Given the description of an element on the screen output the (x, y) to click on. 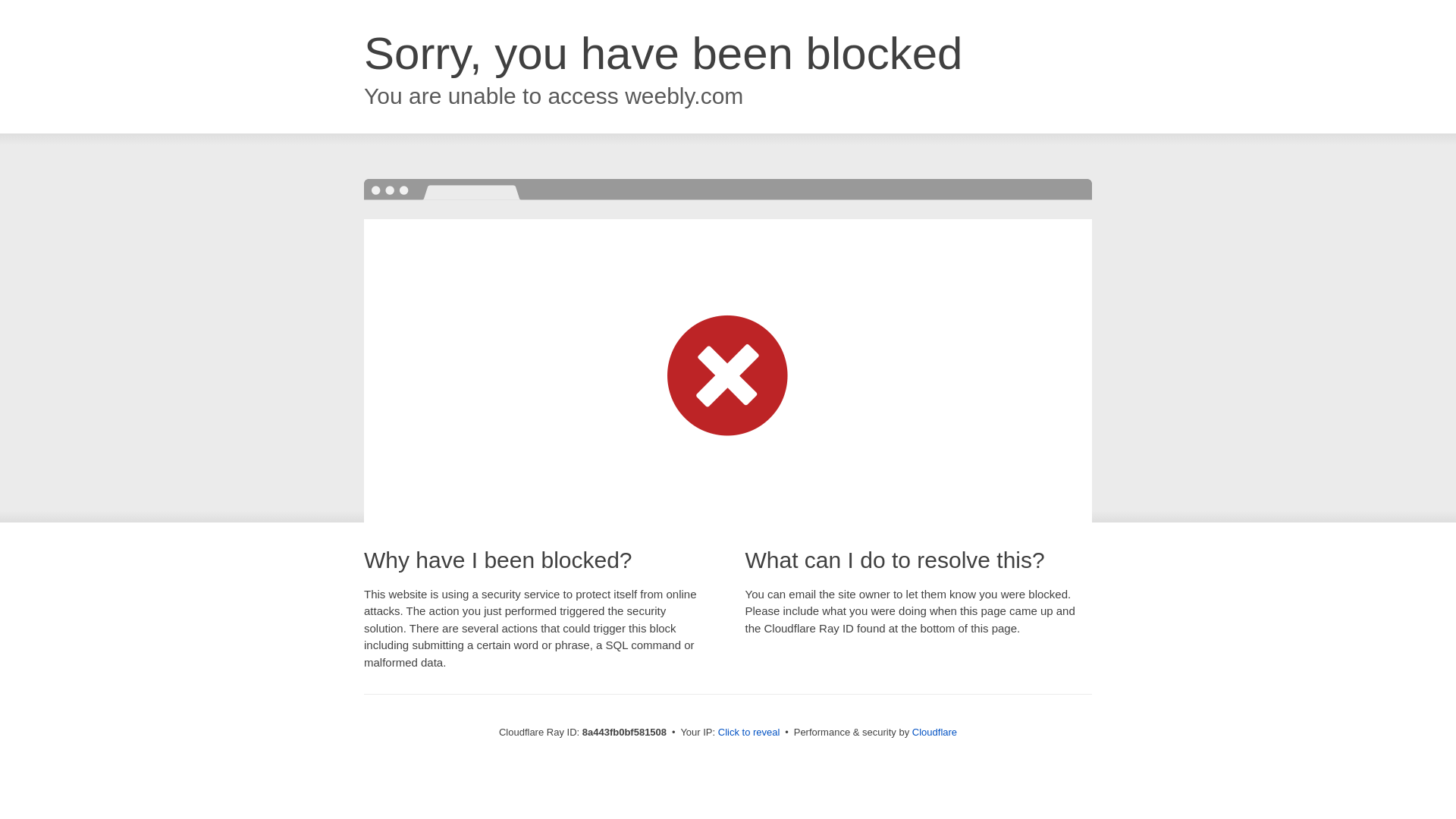
Cloudflare (934, 731)
Click to reveal (748, 732)
